Given the description of an element on the screen output the (x, y) to click on. 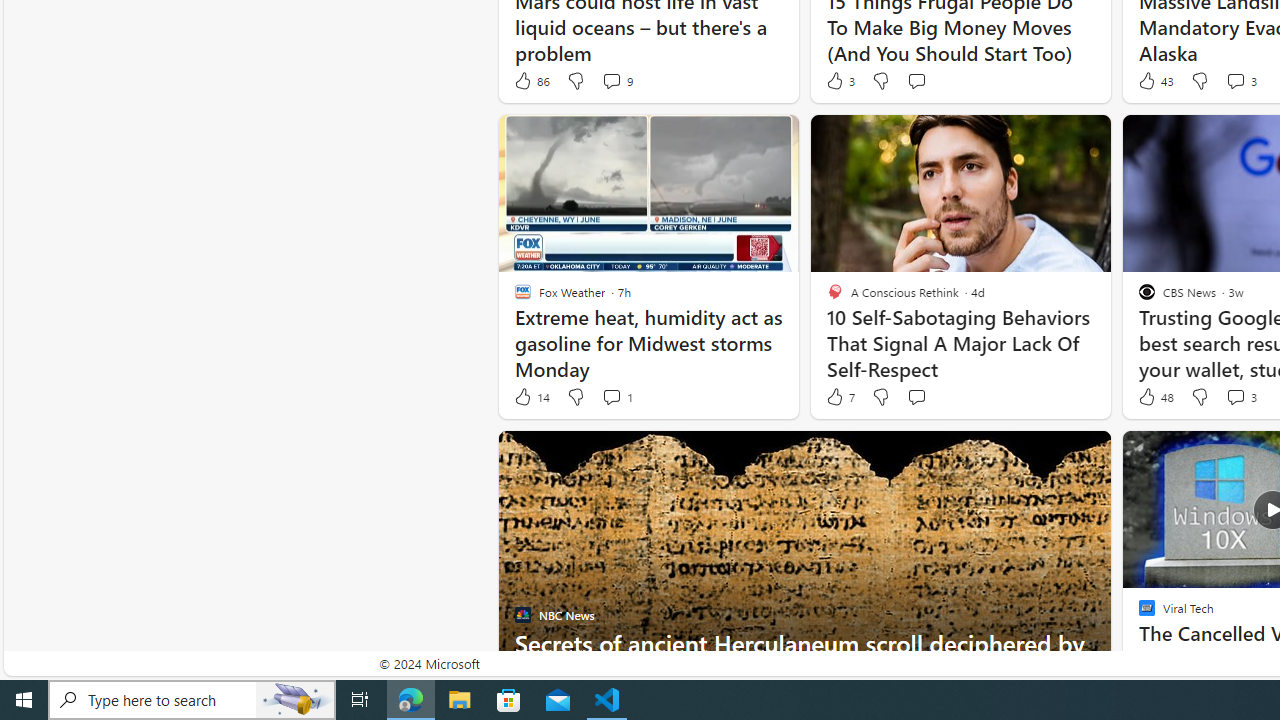
14 Like (531, 397)
View comments 3 Comment (1234, 396)
View comments 3 Comment (1240, 397)
View comments 9 Comment (616, 80)
48 Like (1154, 397)
43 Like (1154, 80)
3 Like (839, 80)
Hide this story (1050, 454)
7 Like (839, 397)
